Given the description of an element on the screen output the (x, y) to click on. 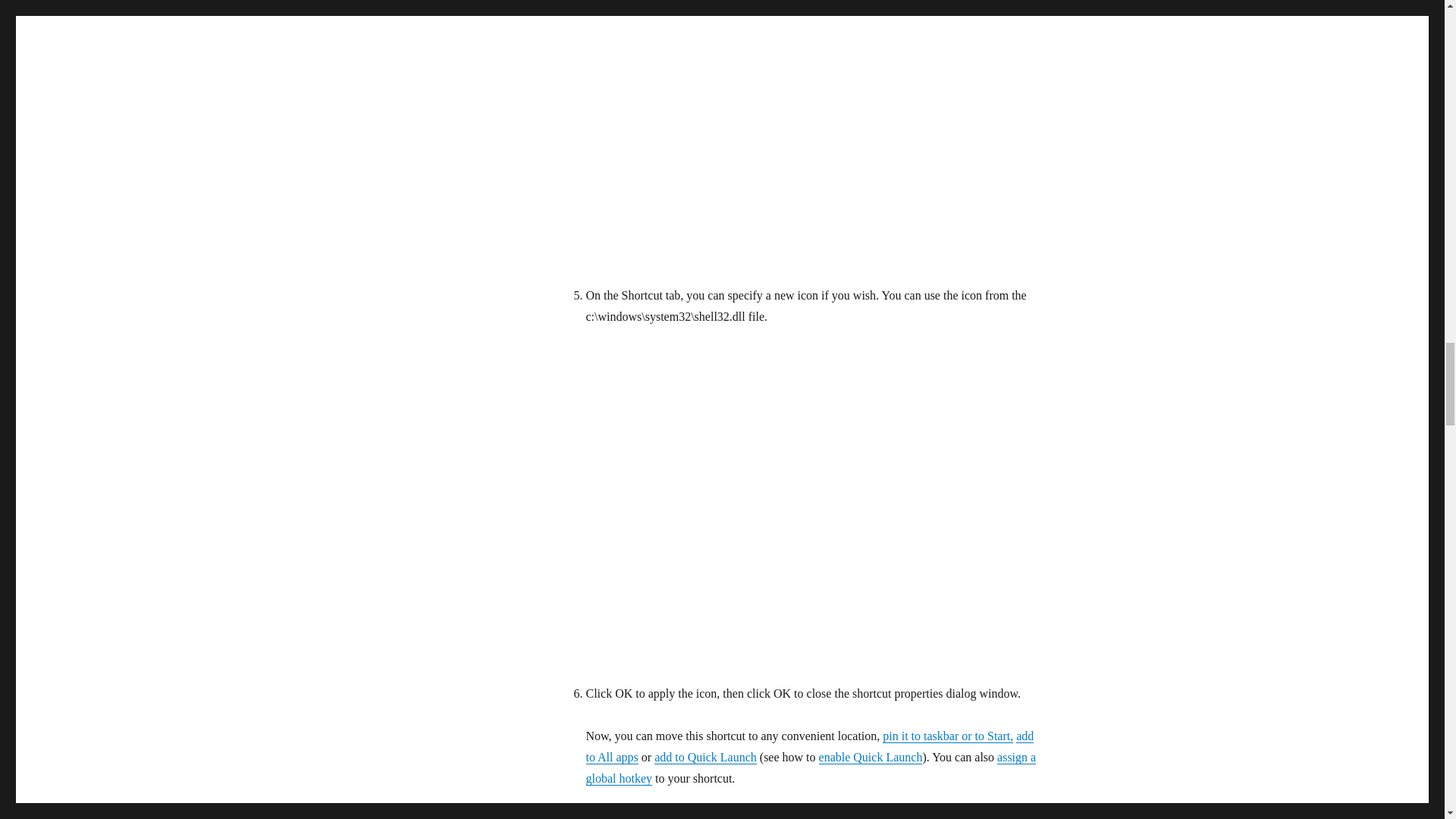
assign a global hotkey (810, 767)
enable Quick Launch (870, 757)
add to All apps (809, 746)
pin it to taskbar or to Start, (947, 735)
add to Quick Launch (705, 757)
